Given the description of an element on the screen output the (x, y) to click on. 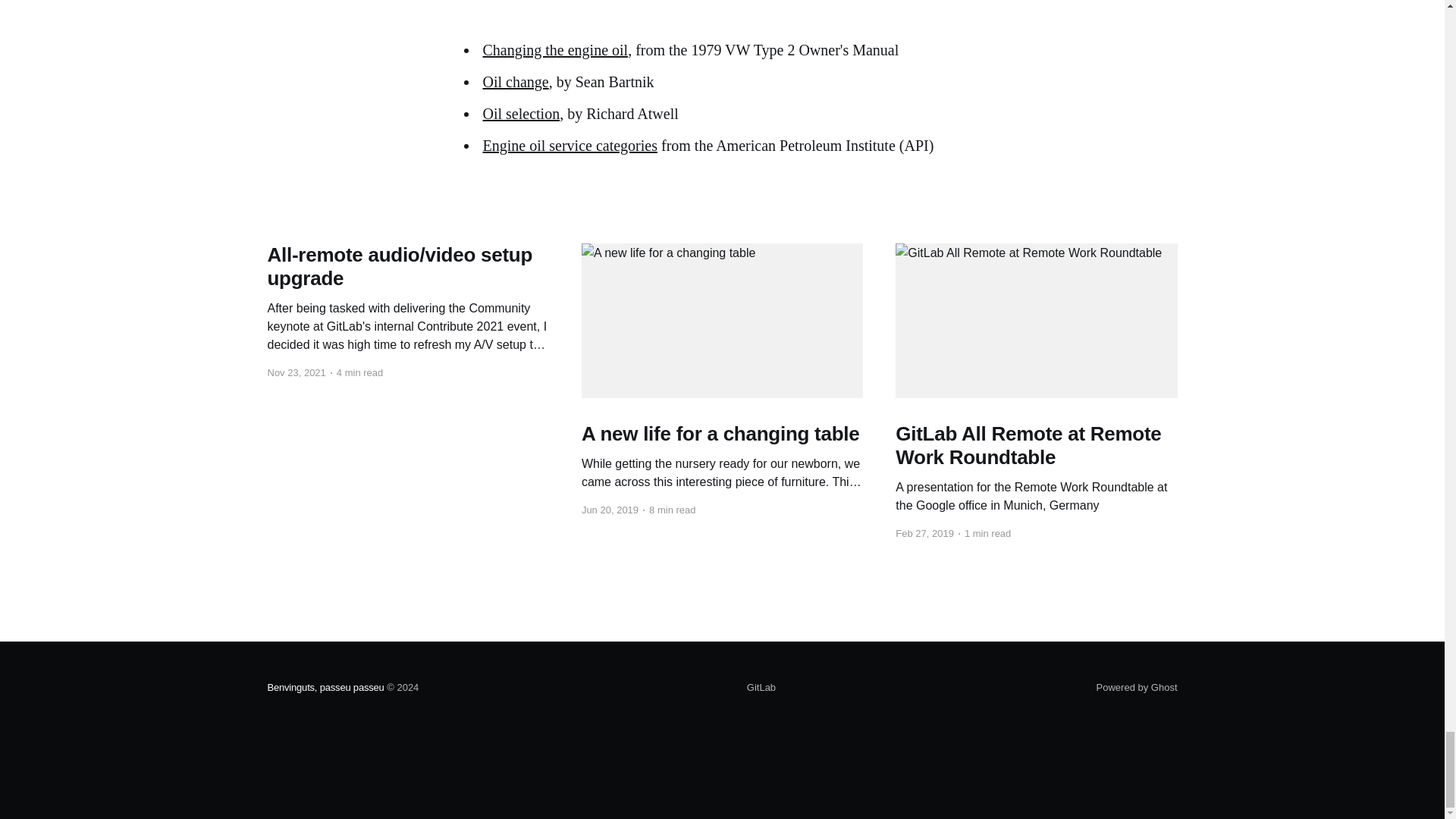
Oil change (514, 81)
Engine oil service categories (568, 145)
Changing the engine oil (554, 49)
Benvinguts, passeu passeu (325, 686)
Powered by Ghost (1136, 686)
Oil selection (520, 113)
GitLab (761, 687)
